Given the description of an element on the screen output the (x, y) to click on. 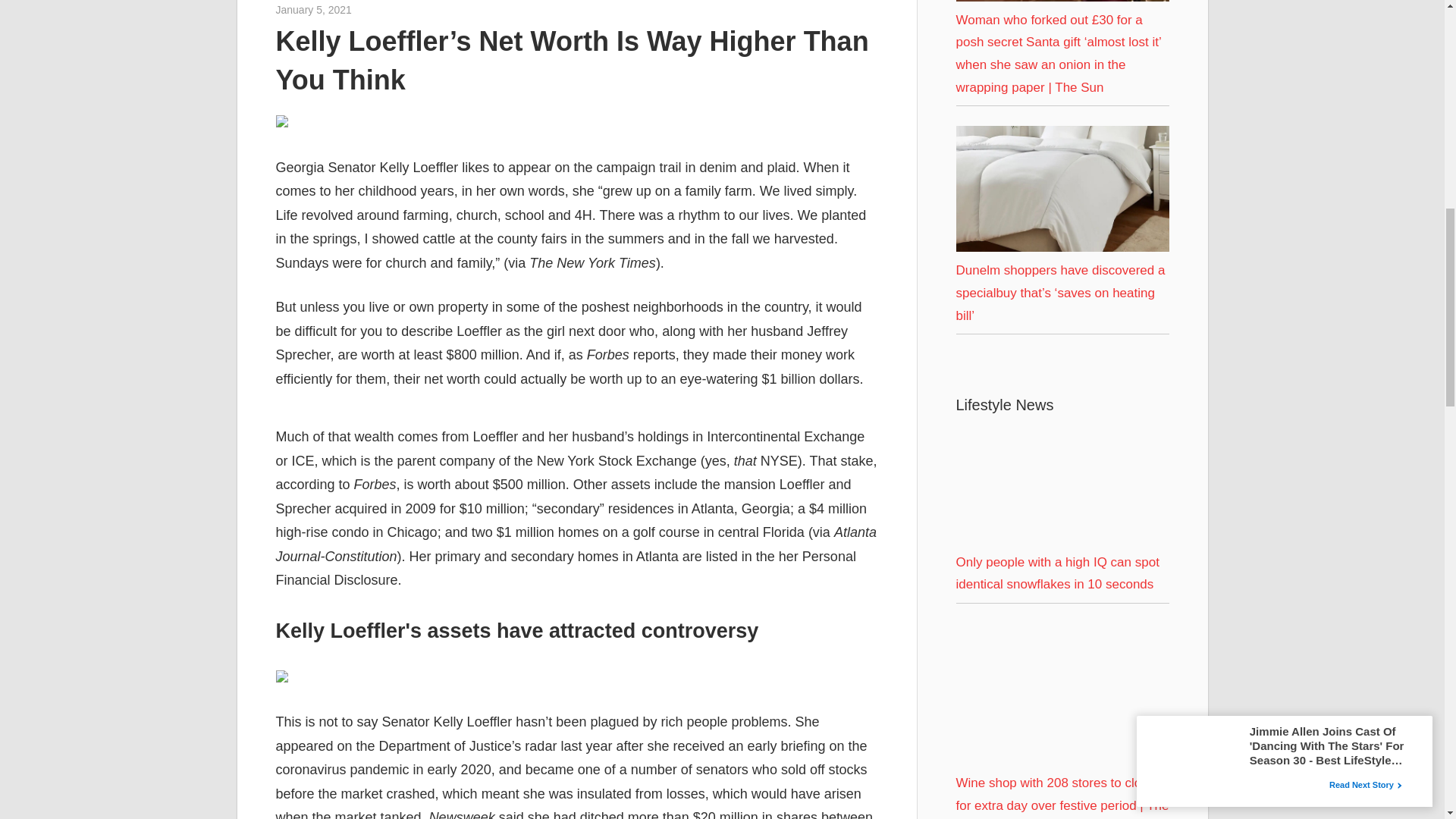
14:57 (314, 9)
January 5, 2021 (314, 9)
